Given the description of an element on the screen output the (x, y) to click on. 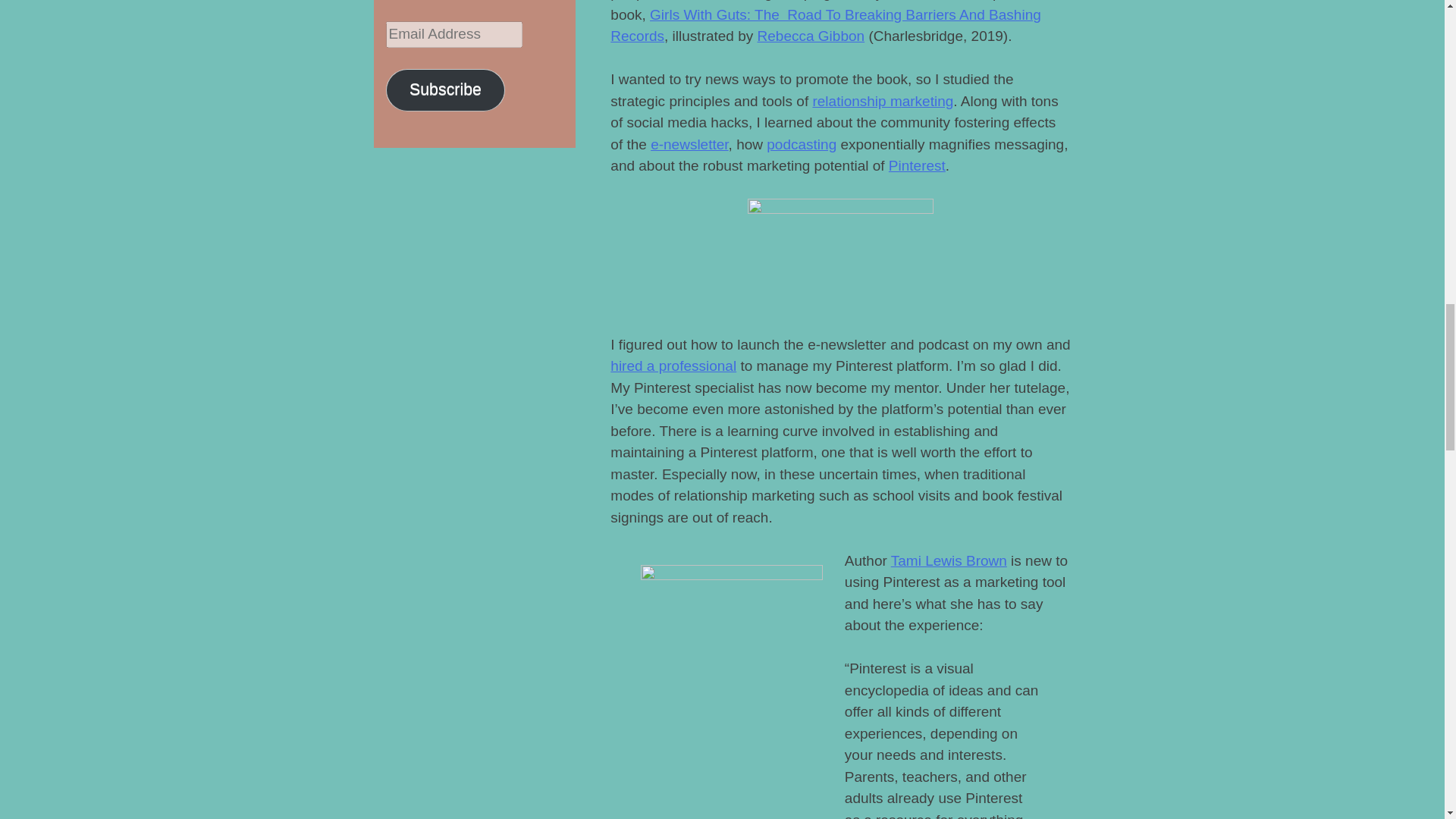
podcasting (801, 144)
Rebecca Gibbon (810, 35)
Pinterest (916, 165)
e-newsletter (689, 144)
Little, Brown Books for Young Readers (712, 818)
hired a professional (673, 365)
relationship marketing (882, 100)
Tami Lewis Brown (949, 560)
